Given the description of an element on the screen output the (x, y) to click on. 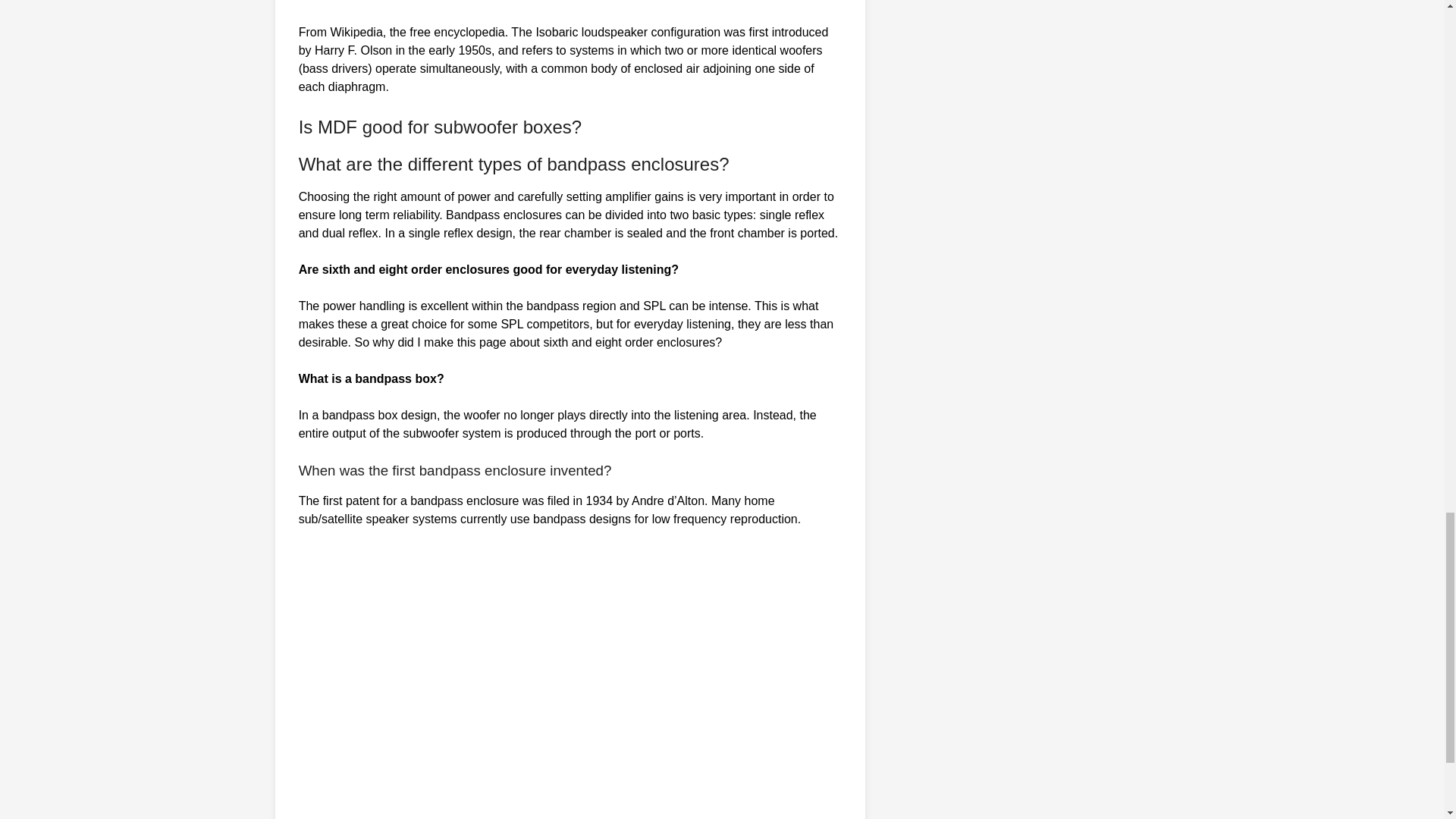
8th Order Enclosures (541, 683)
